Given the description of an element on the screen output the (x, y) to click on. 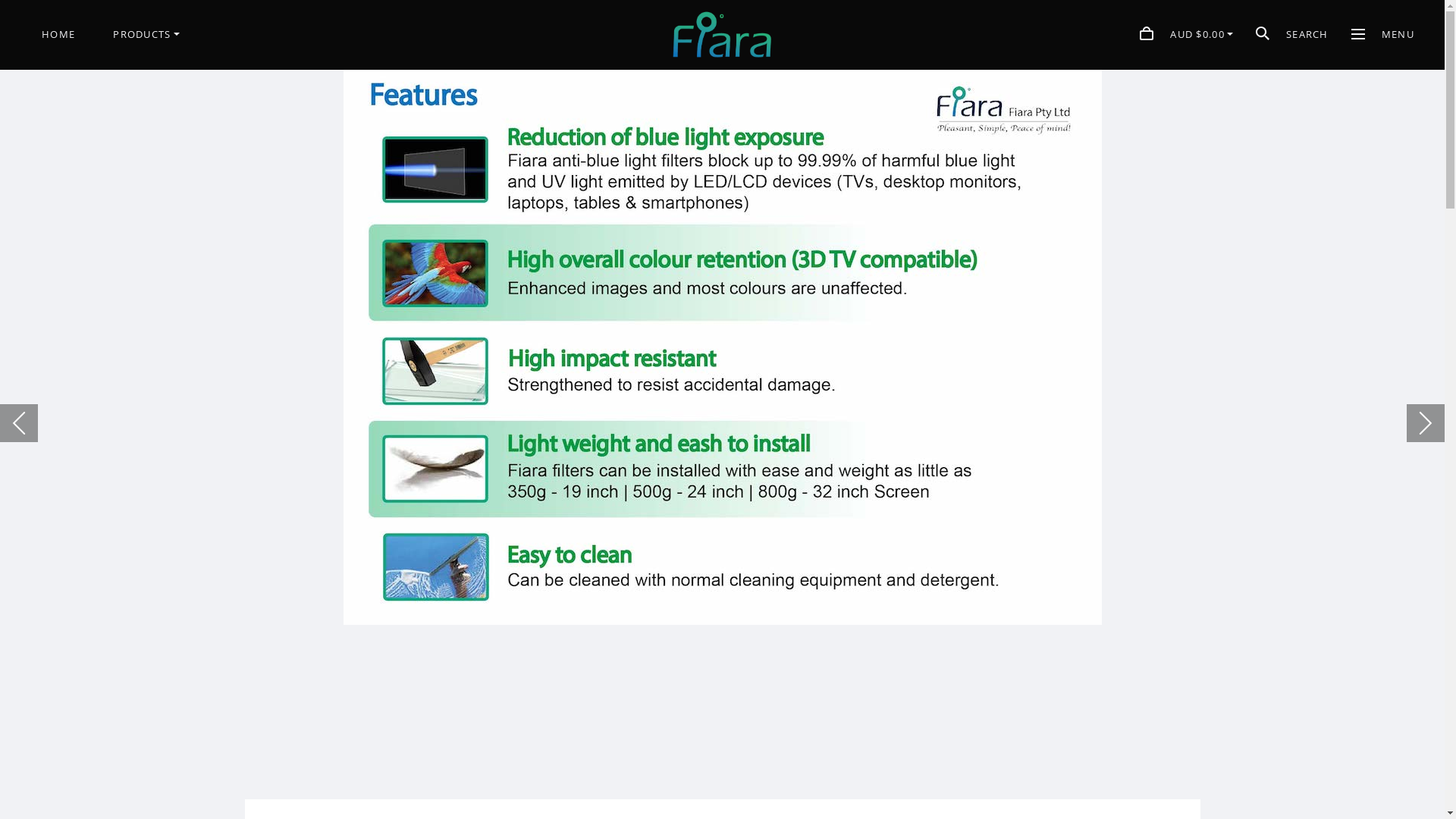
HOME Element type: text (58, 34)
PRODUCTS Element type: text (145, 33)
AUD $0.00 Element type: text (1186, 34)
SEARCH Element type: text (1291, 34)
MENU Element type: text (1382, 34)
